Given the description of an element on the screen output the (x, y) to click on. 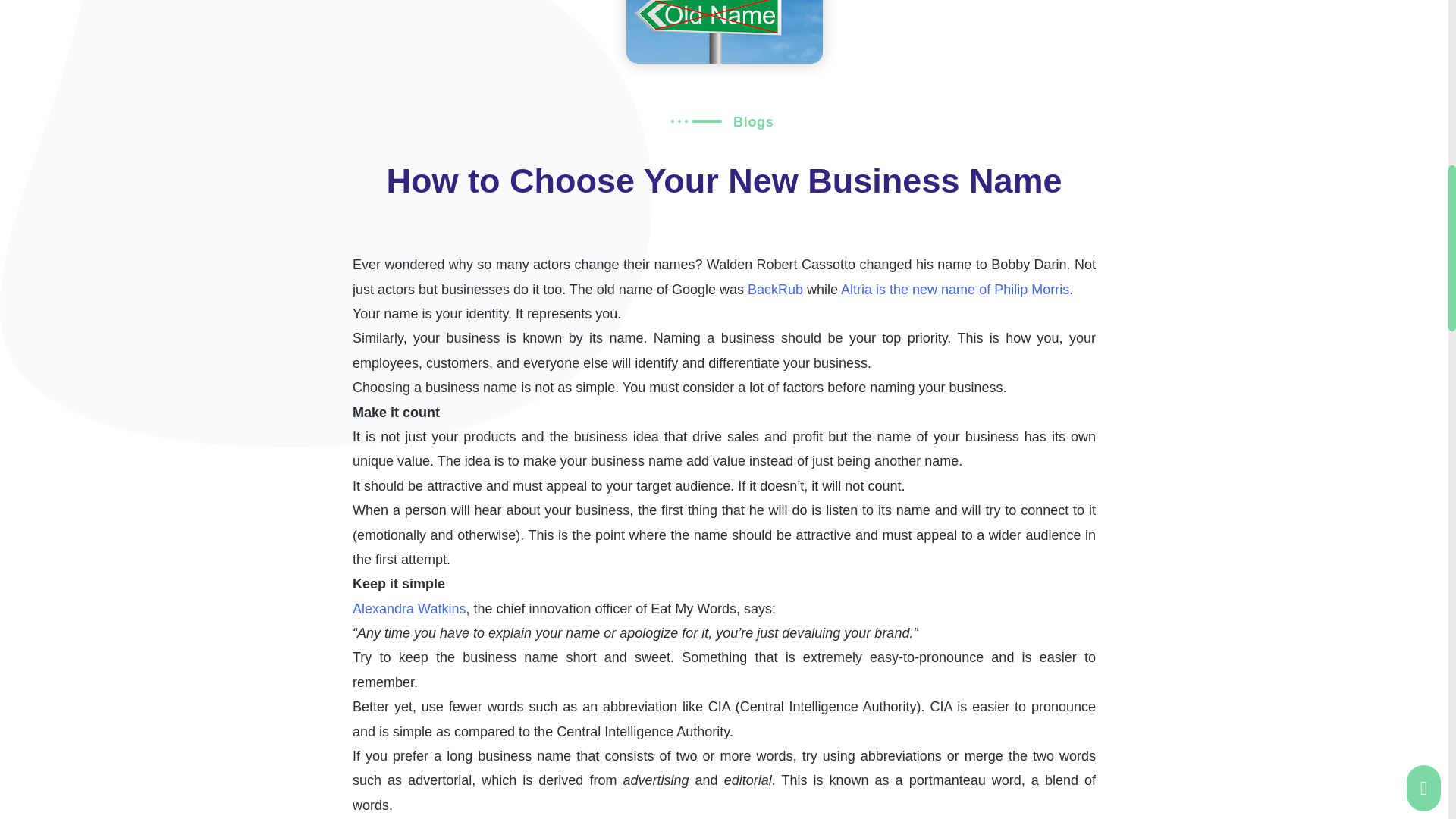
BackRub (775, 289)
